Given the description of an element on the screen output the (x, y) to click on. 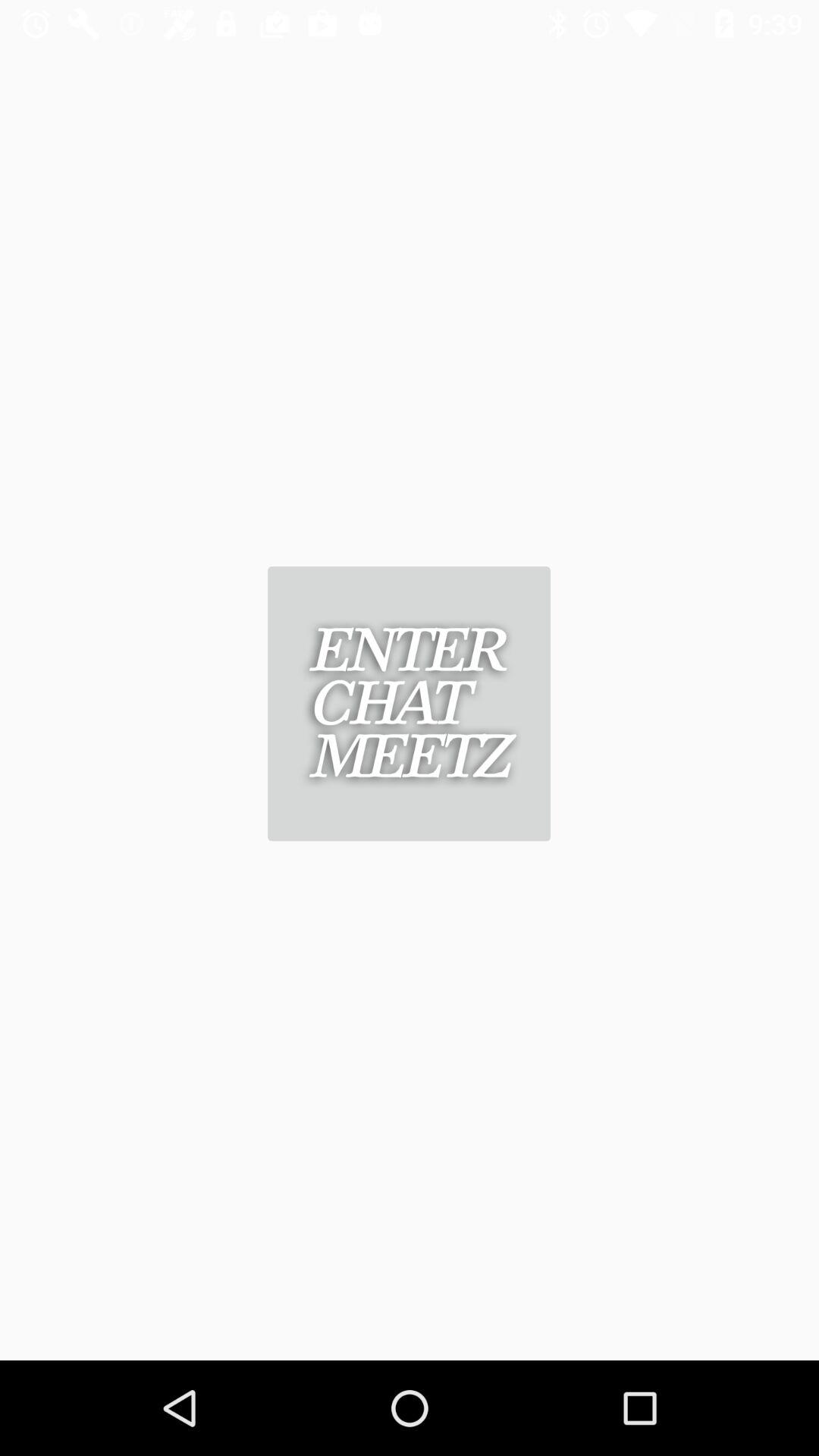
choose item at the center (408, 703)
